Given the description of an element on the screen output the (x, y) to click on. 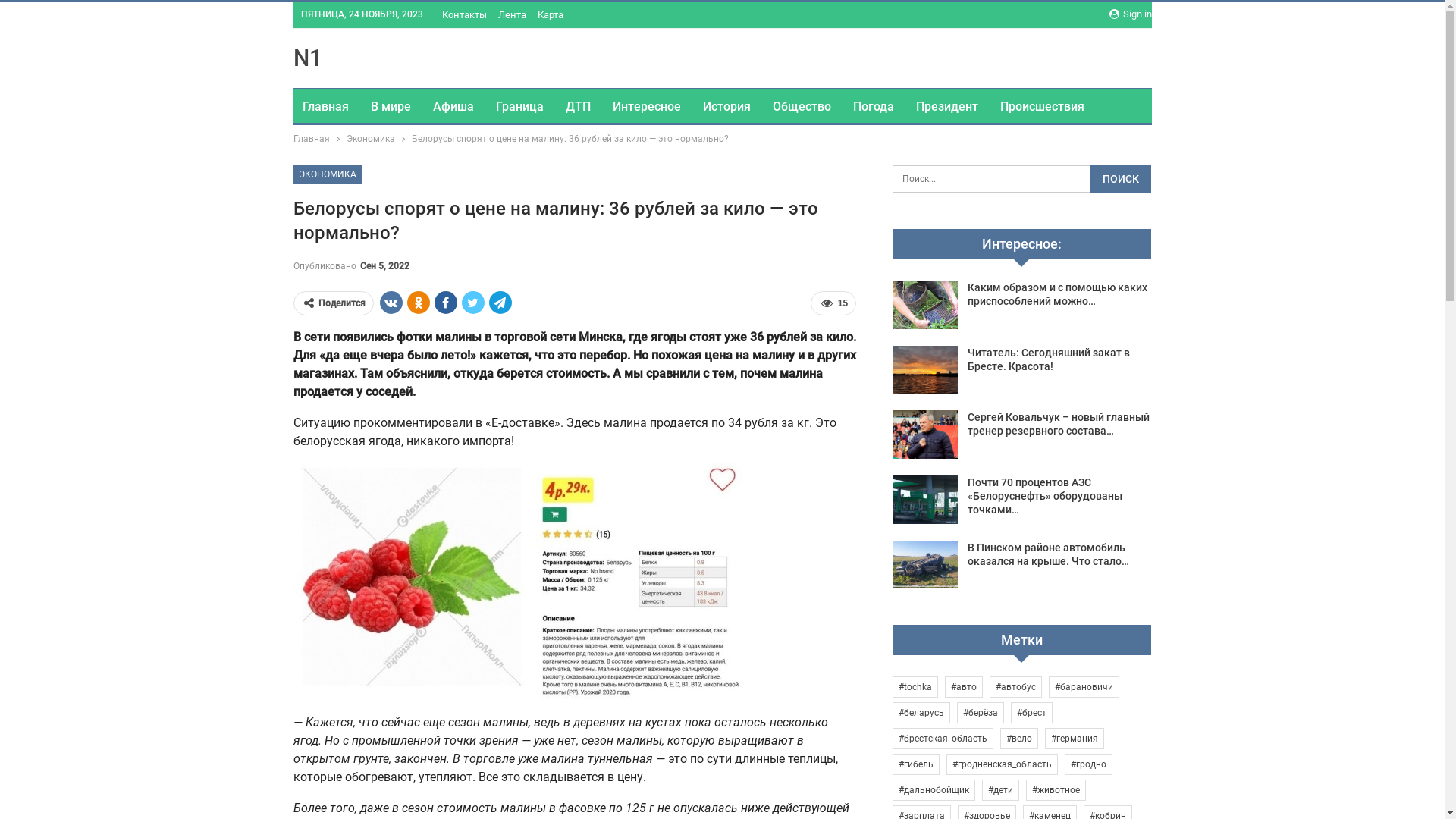
Sign in Element type: text (1129, 14)
#tochka Element type: text (915, 686)
N1 Element type: text (306, 57)
